Given the description of an element on the screen output the (x, y) to click on. 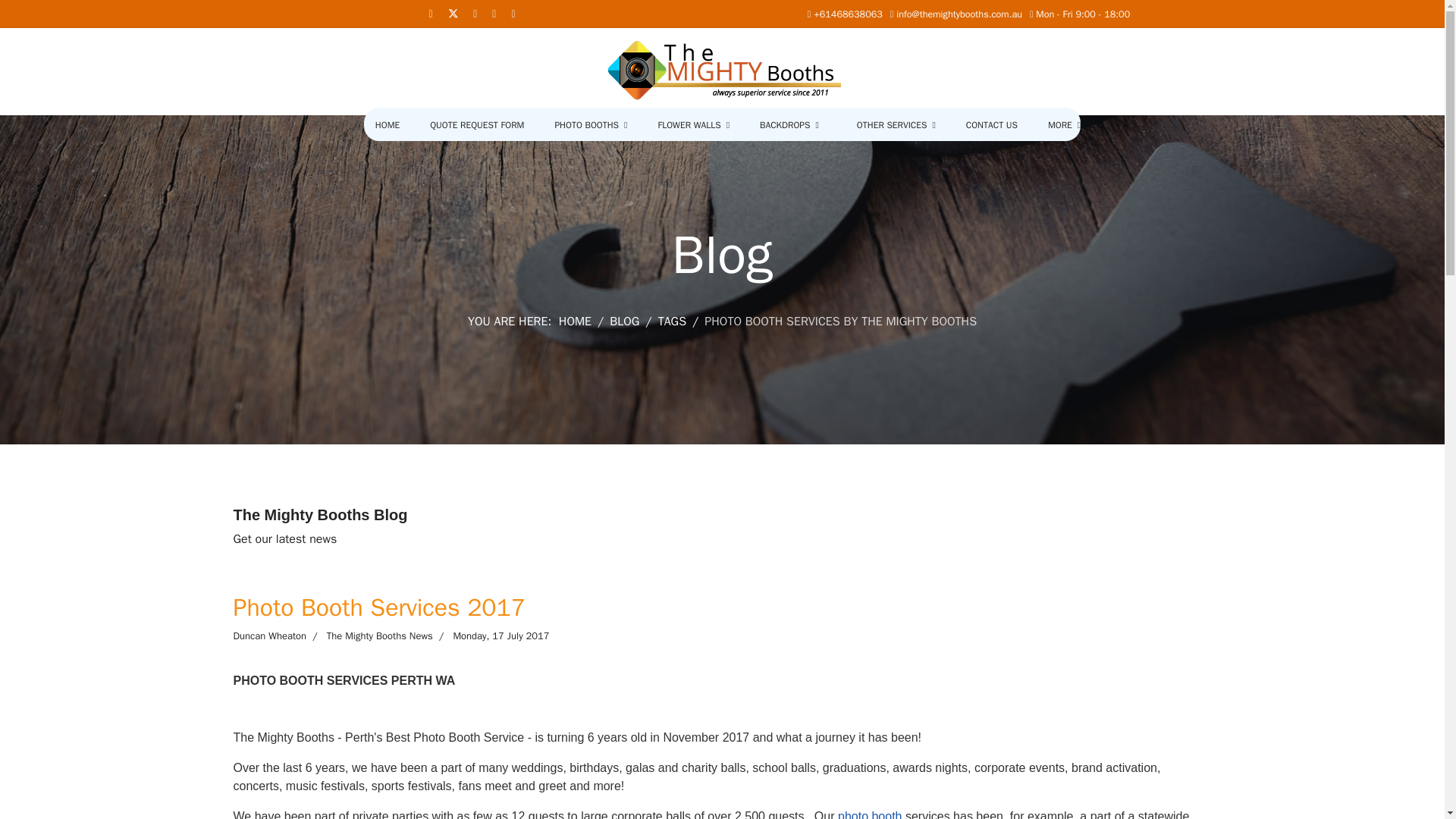
BACKDROPS (788, 124)
PHOTO BOOTHS (591, 124)
FLOWER WALLS (693, 124)
HOME (387, 124)
OTHER SERVICES (896, 124)
CONTACT US (992, 124)
QUOTE REQUEST FORM (477, 124)
